Given the description of an element on the screen output the (x, y) to click on. 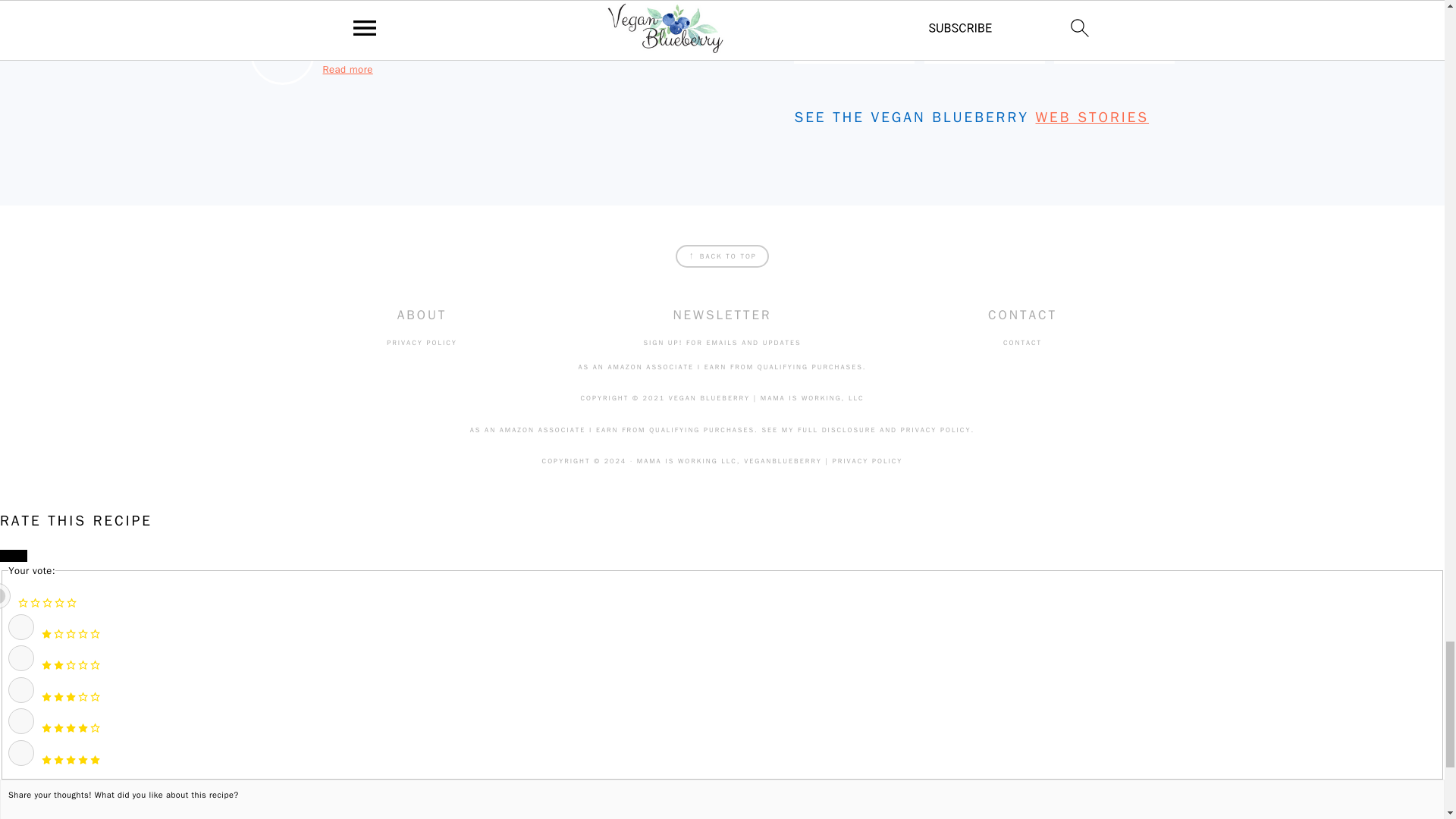
2 (20, 657)
Butter Bean Hummus (984, 51)
4 (20, 720)
3 (20, 689)
5 (20, 752)
Butter Bean Stew (854, 51)
Vegan Mocha Mug Cake (1114, 51)
1 (20, 626)
